Given the description of an element on the screen output the (x, y) to click on. 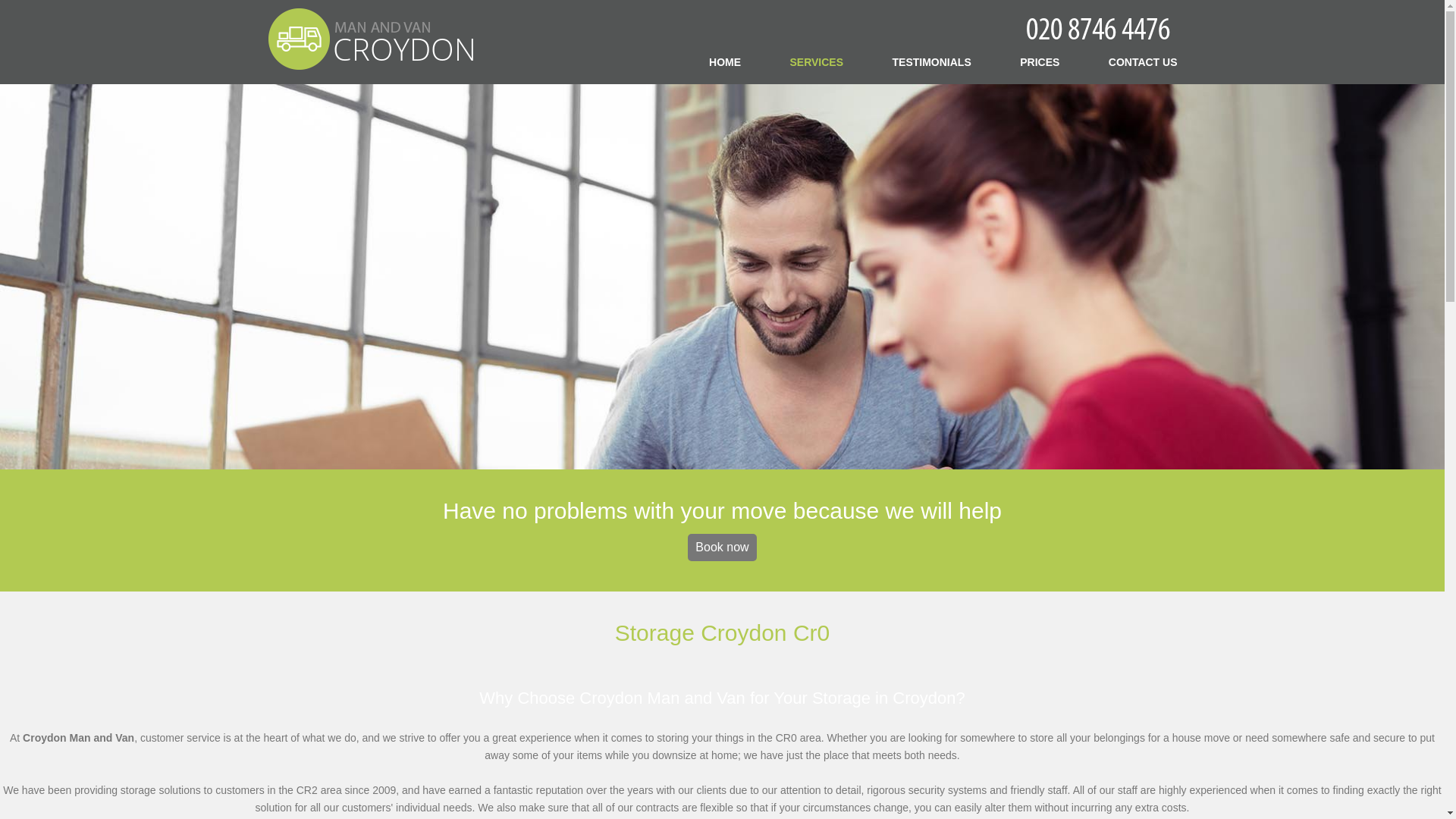
HOME (725, 61)
PRICES (1039, 61)
TESTIMONIALS (931, 61)
SERVICES (817, 61)
Book now (721, 547)
CONTACT US (1142, 61)
Call Now! (1100, 27)
